Given the description of an element on the screen output the (x, y) to click on. 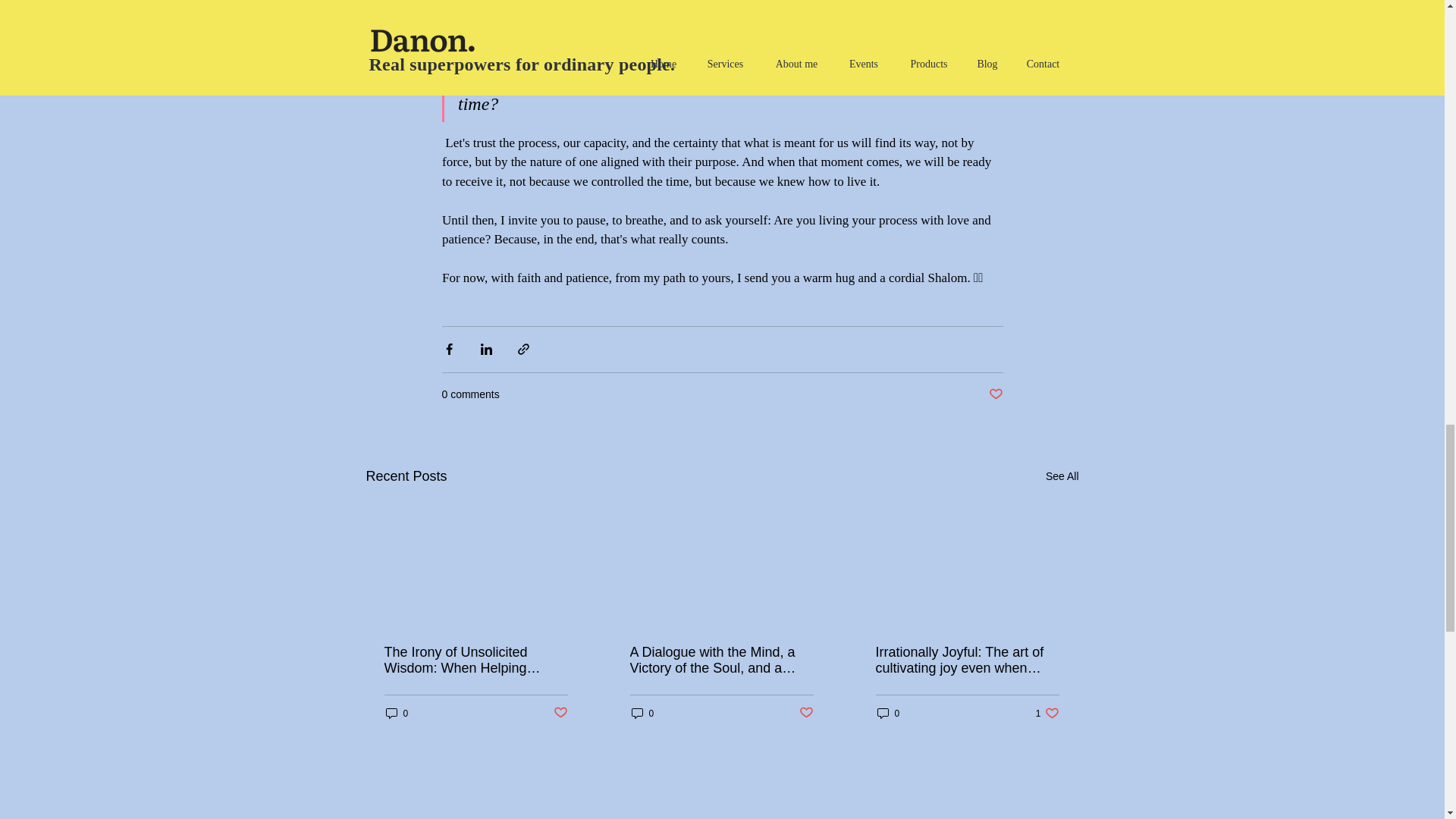
Post not marked as liked (995, 394)
0 (641, 712)
Post not marked as liked (560, 713)
0 (396, 712)
0 (1047, 712)
See All (888, 712)
